Given the description of an element on the screen output the (x, y) to click on. 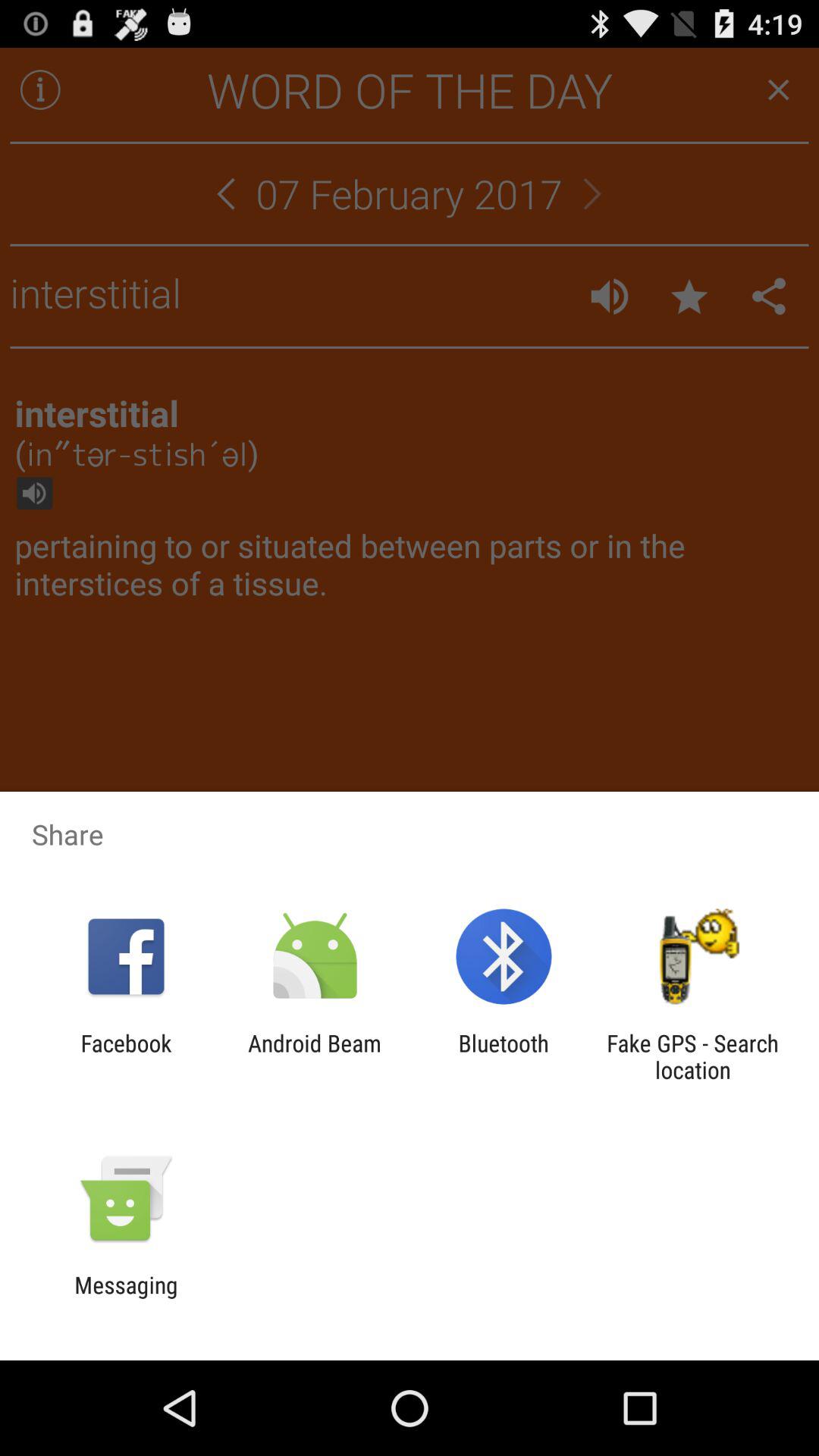
turn off the icon to the left of the fake gps search app (503, 1056)
